Given the description of an element on the screen output the (x, y) to click on. 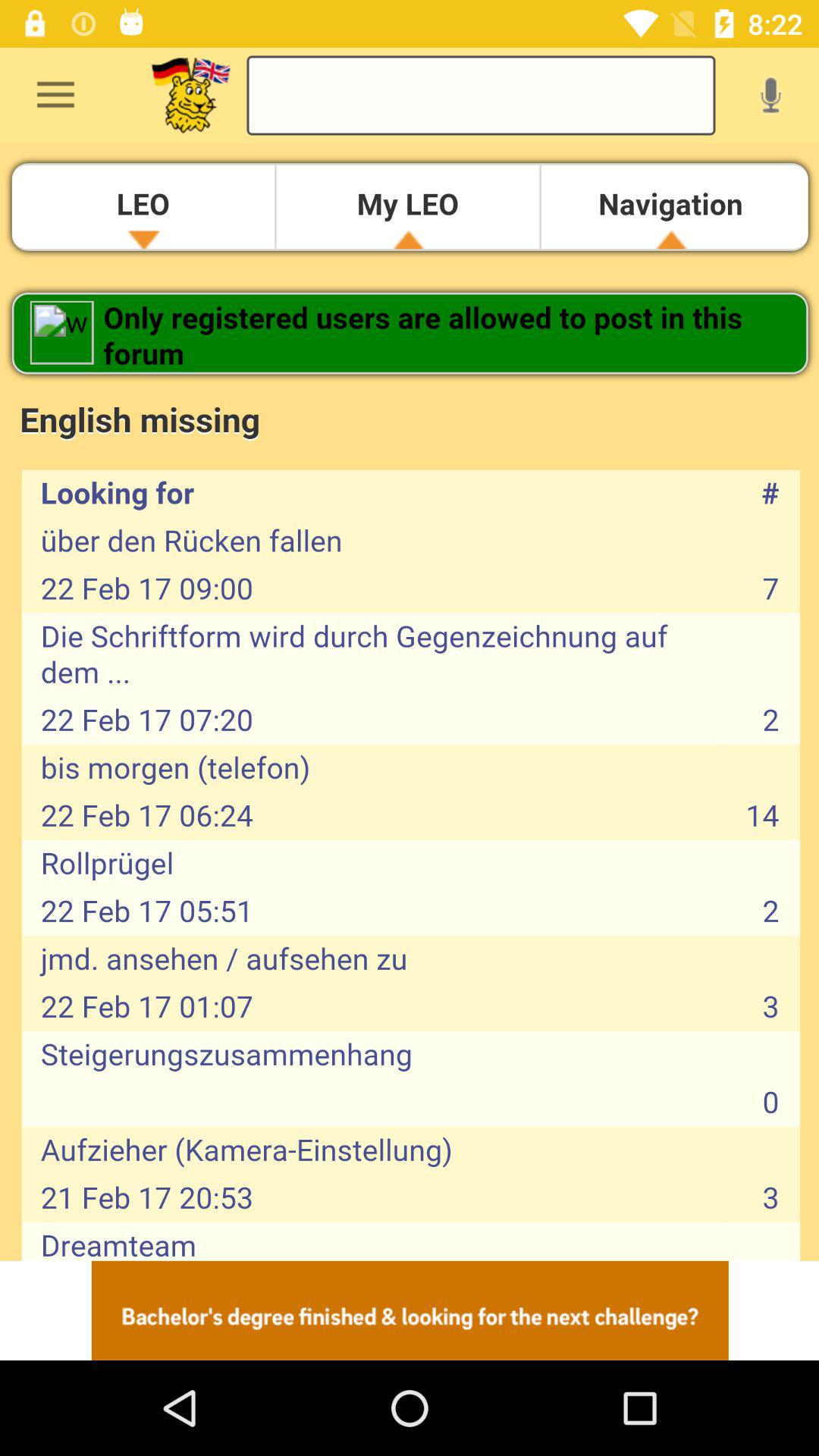
go to voice search option (770, 94)
